Given the description of an element on the screen output the (x, y) to click on. 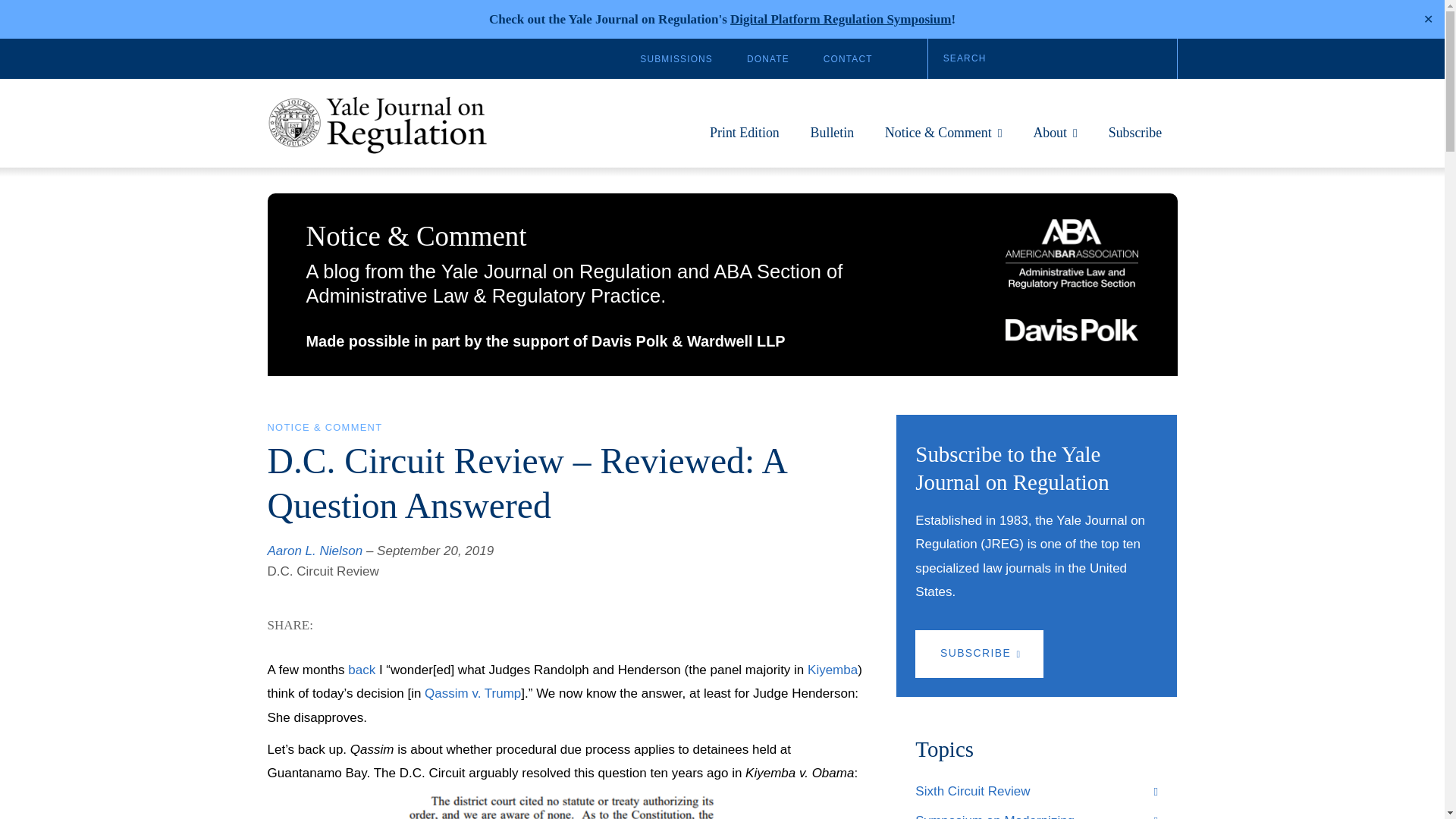
Aaron L. Nielson (314, 550)
Subscribe (1134, 140)
CONTACT (848, 59)
D.C. Circuit Review (322, 571)
Print Edition (744, 140)
Search (1052, 58)
DONATE (767, 59)
Digital Platform Regulation Symposium (840, 19)
SUBMISSIONS (676, 59)
